Given the description of an element on the screen output the (x, y) to click on. 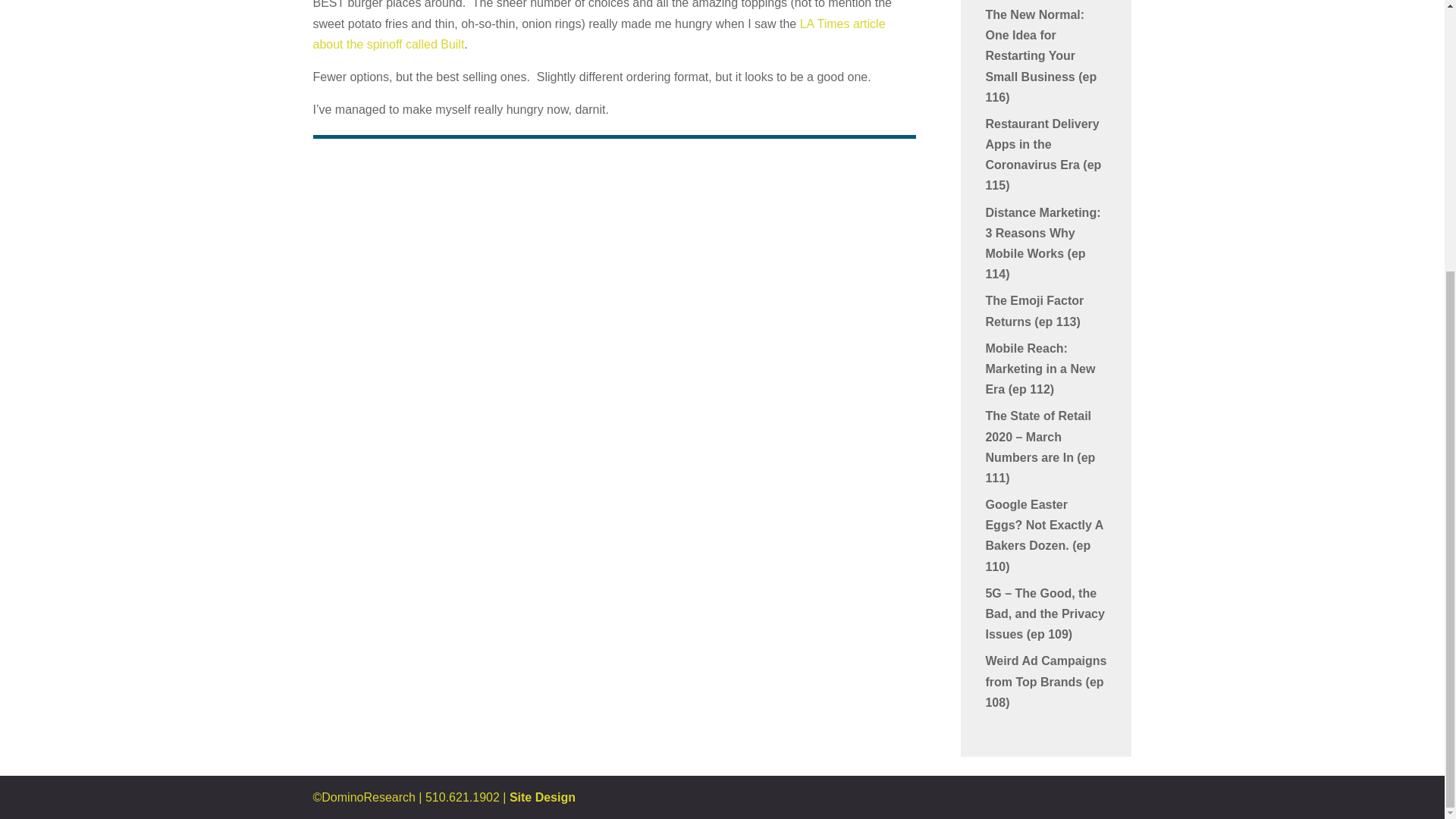
Site Design (542, 797)
LA Times article about Built (599, 33)
LA Times article about the spinoff called Built (599, 33)
